Given the description of an element on the screen output the (x, y) to click on. 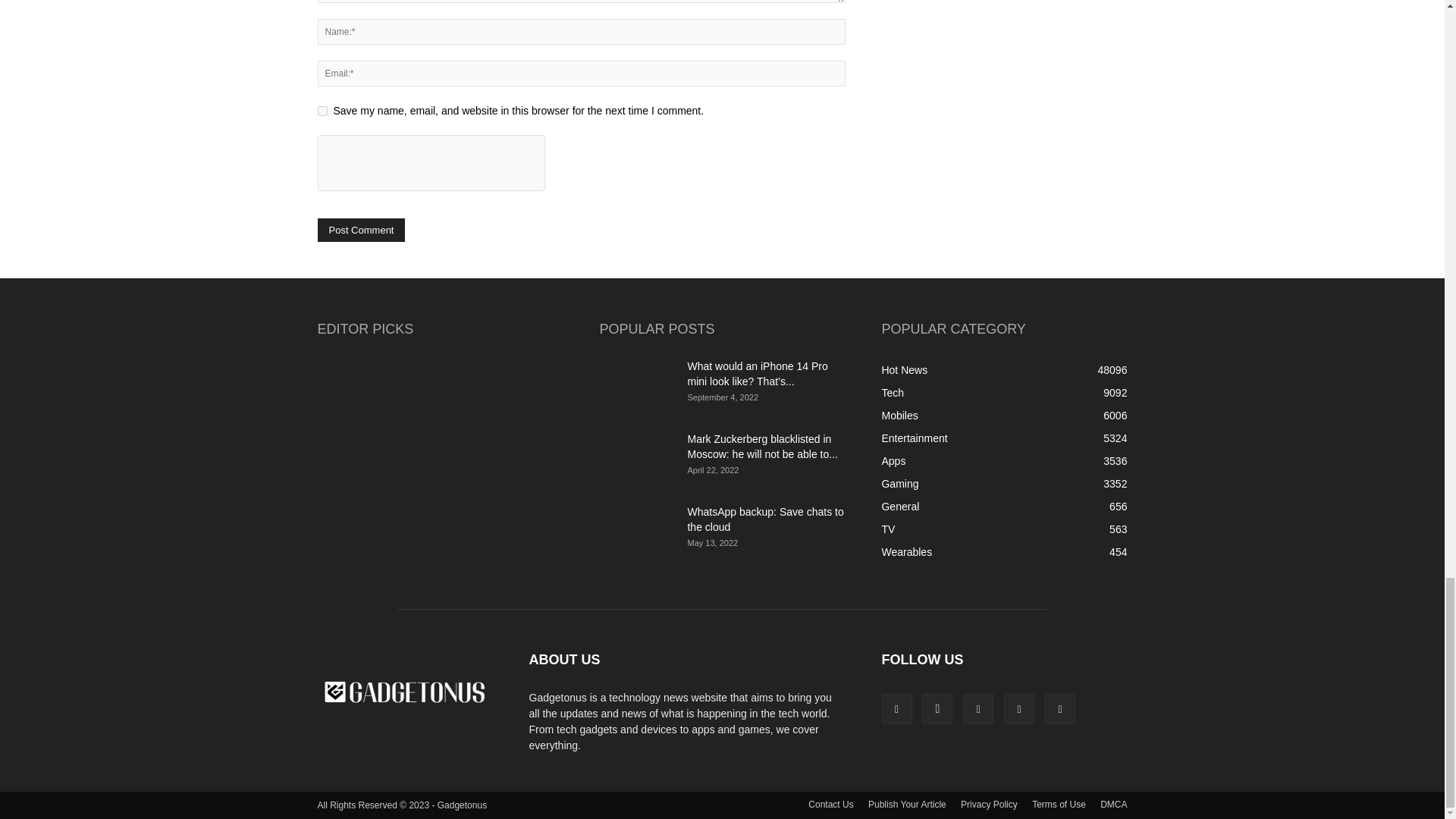
Post Comment (360, 229)
yes (321, 111)
